Given the description of an element on the screen output the (x, y) to click on. 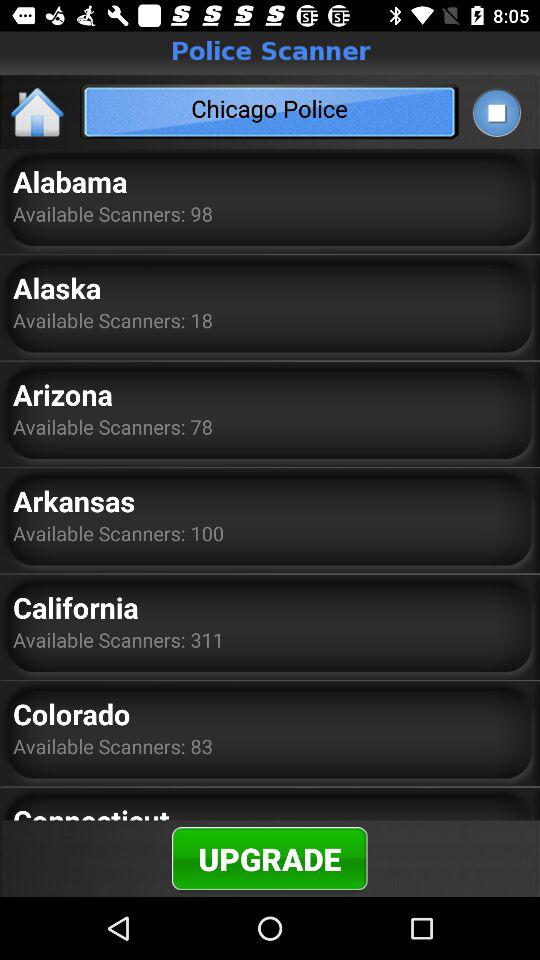
go to home page (38, 111)
